Given the description of an element on the screen output the (x, y) to click on. 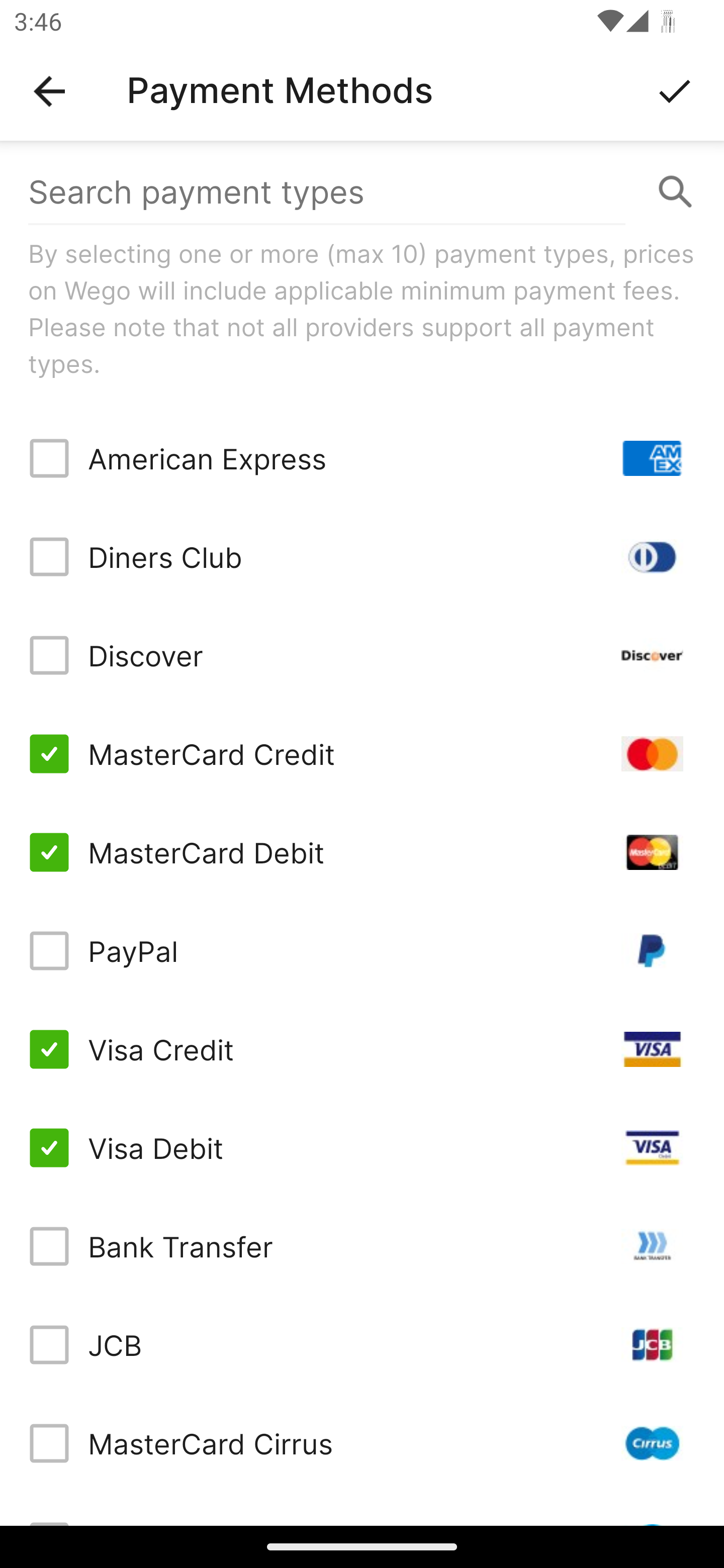
Search payment types  (361, 191)
American Express (362, 458)
Diners Club (362, 557)
Discover (362, 655)
MasterCard Credit (362, 753)
MasterCard Debit (362, 851)
PayPal (362, 950)
Visa Credit (362, 1049)
Visa Debit (362, 1147)
Bank Transfer (362, 1245)
JCB (362, 1344)
MasterCard Cirrus (362, 1442)
